Given the description of an element on the screen output the (x, y) to click on. 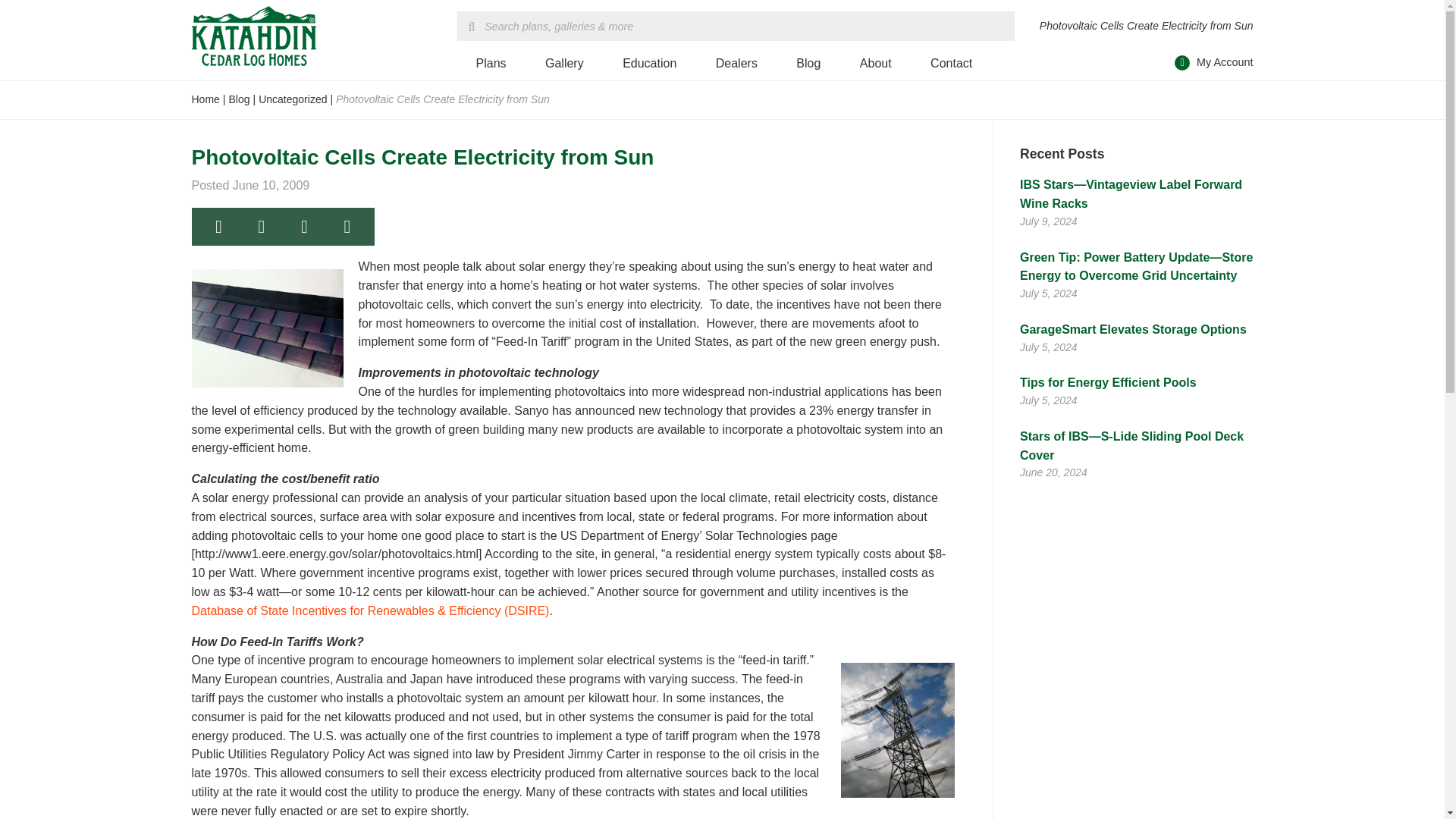
Gallery (563, 63)
Dealers (736, 63)
Plans (490, 63)
Education (649, 63)
Education (649, 63)
Plans (490, 63)
Gallery (563, 63)
Katahdin Cedar Log Homes (252, 35)
